Given the description of an element on the screen output the (x, y) to click on. 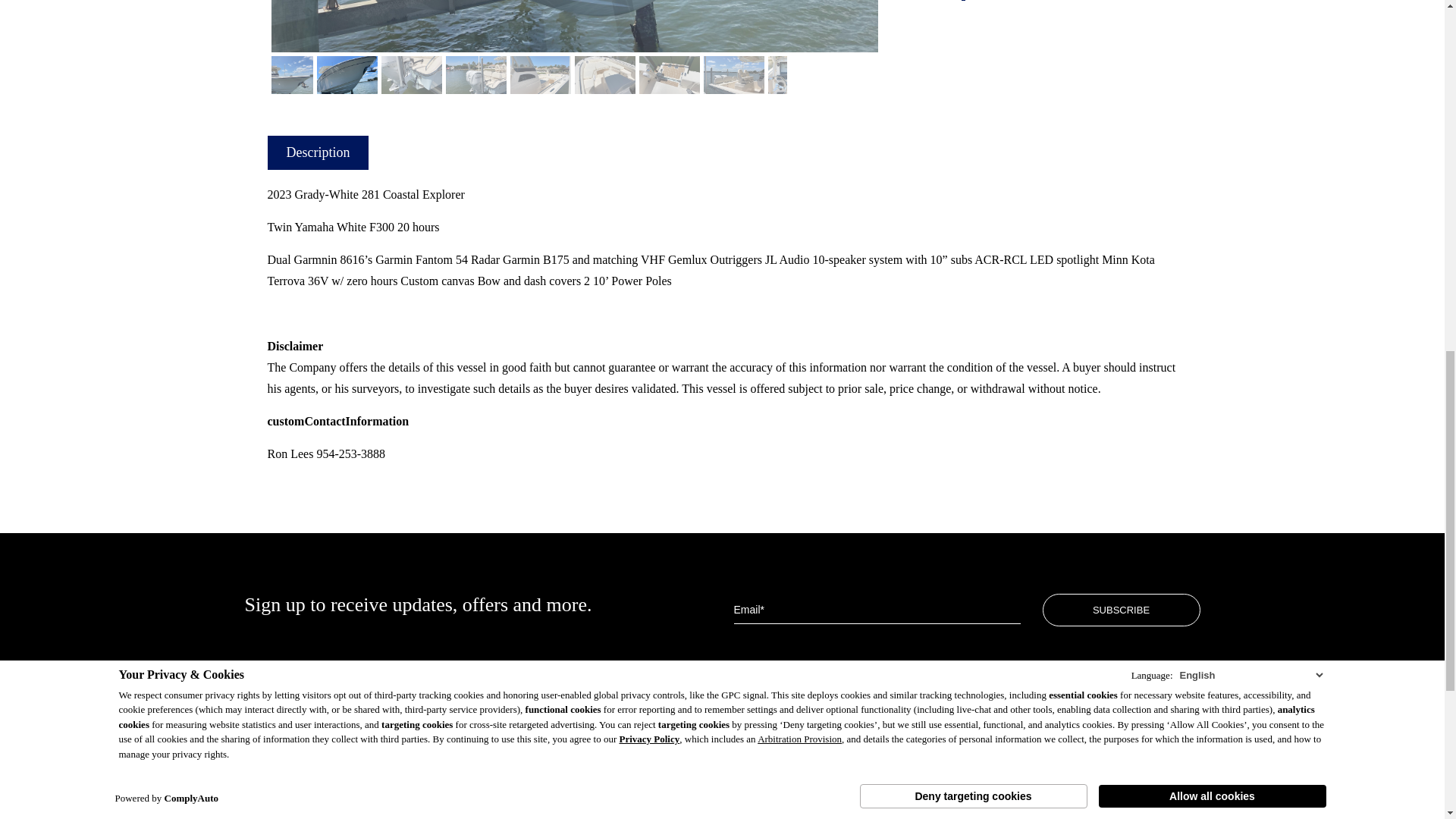
561-448-9082 (793, 758)
ABOUT (264, 817)
Description (317, 152)
Subscribe (1120, 609)
Subscribe (1120, 609)
SERVICE (269, 799)
BRANDS (269, 754)
INVENTORY (279, 776)
